Given the description of an element on the screen output the (x, y) to click on. 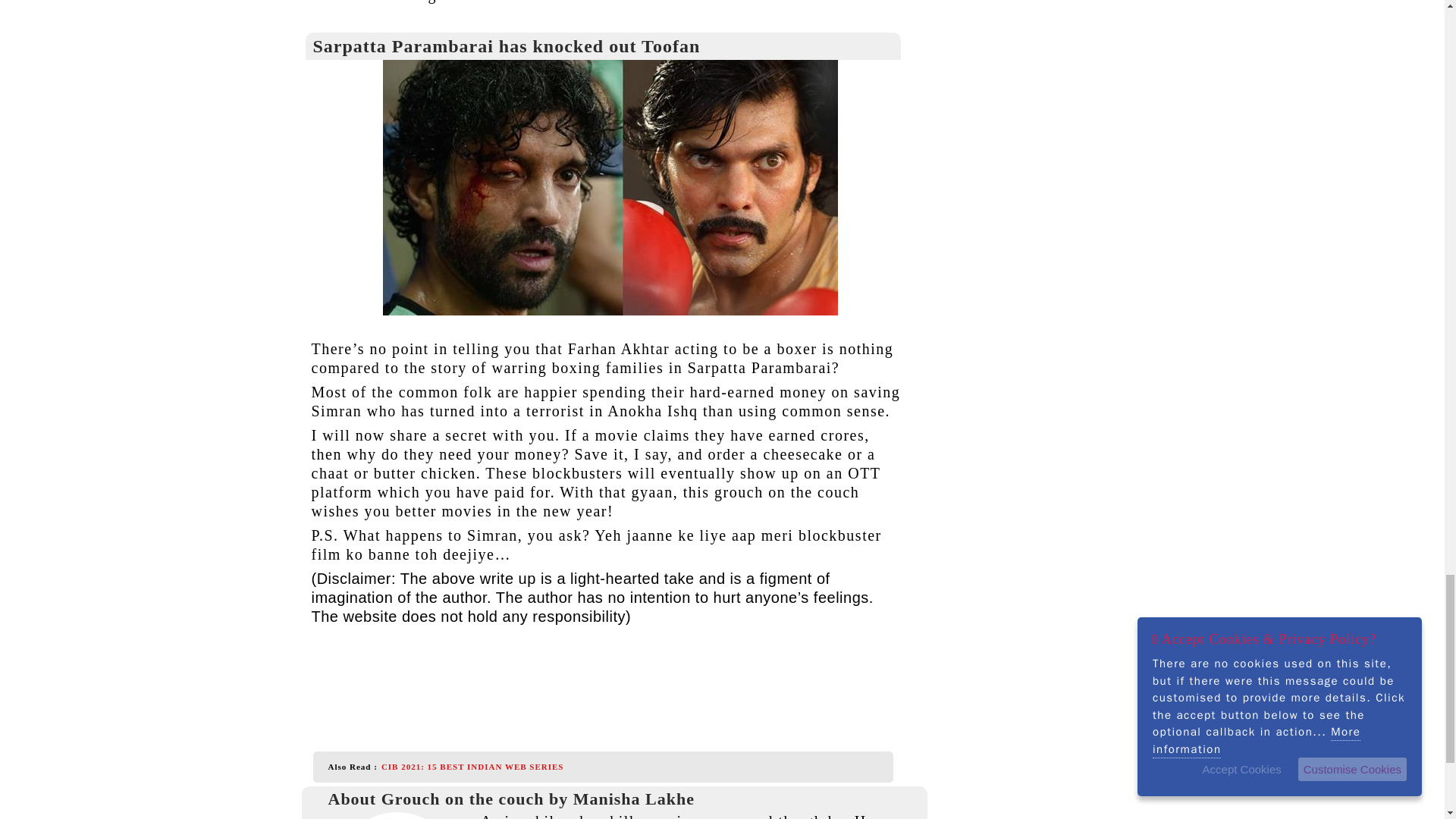
Grouch on the couch by Manisha Lakhe  (395, 815)
